Given the description of an element on the screen output the (x, y) to click on. 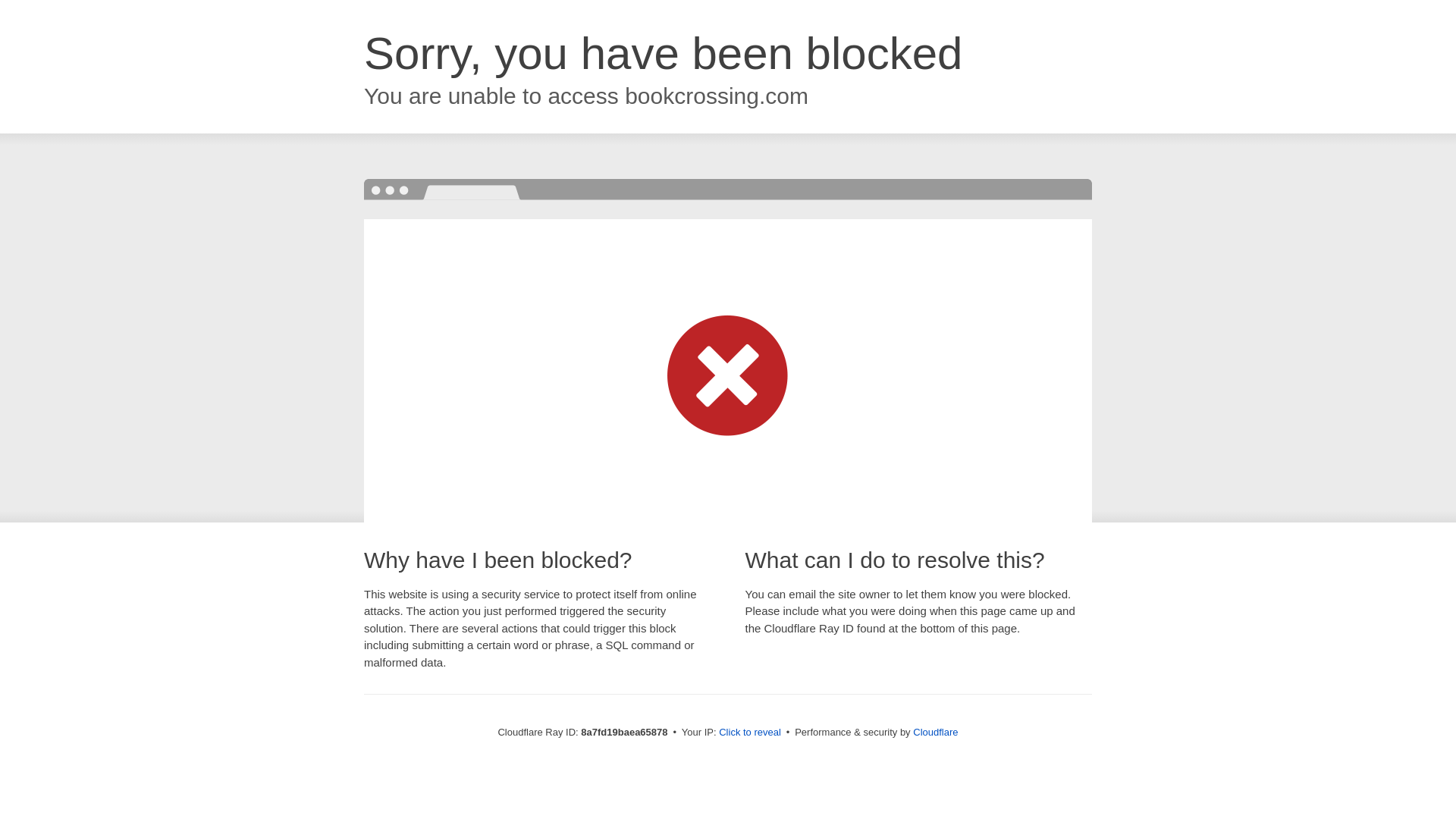
Click to reveal (749, 732)
Cloudflare (935, 731)
